Given the description of an element on the screen output the (x, y) to click on. 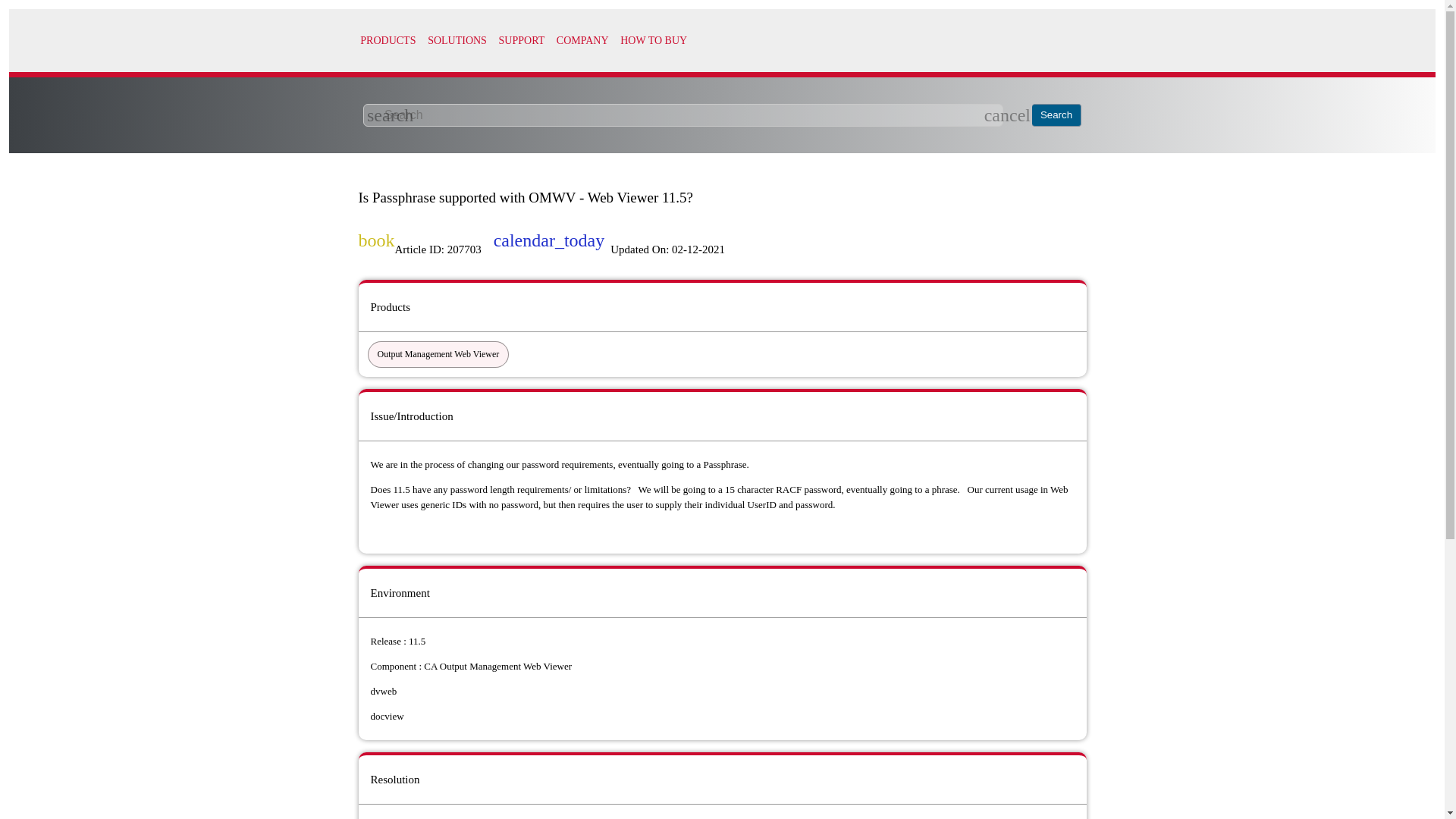
Search (1056, 115)
